Given the description of an element on the screen output the (x, y) to click on. 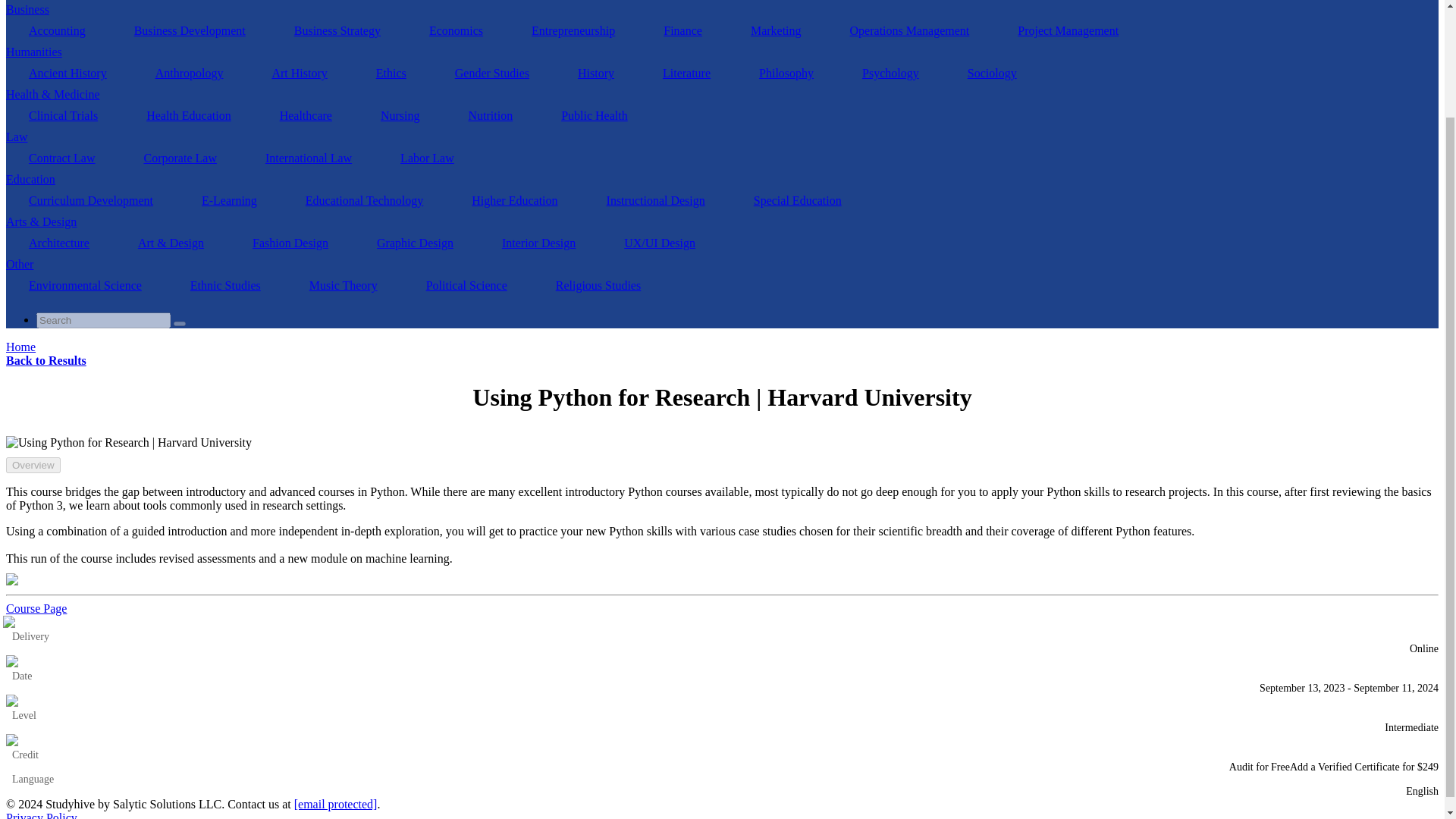
Business Development (189, 30)
Accounting (56, 30)
